Given the description of an element on the screen output the (x, y) to click on. 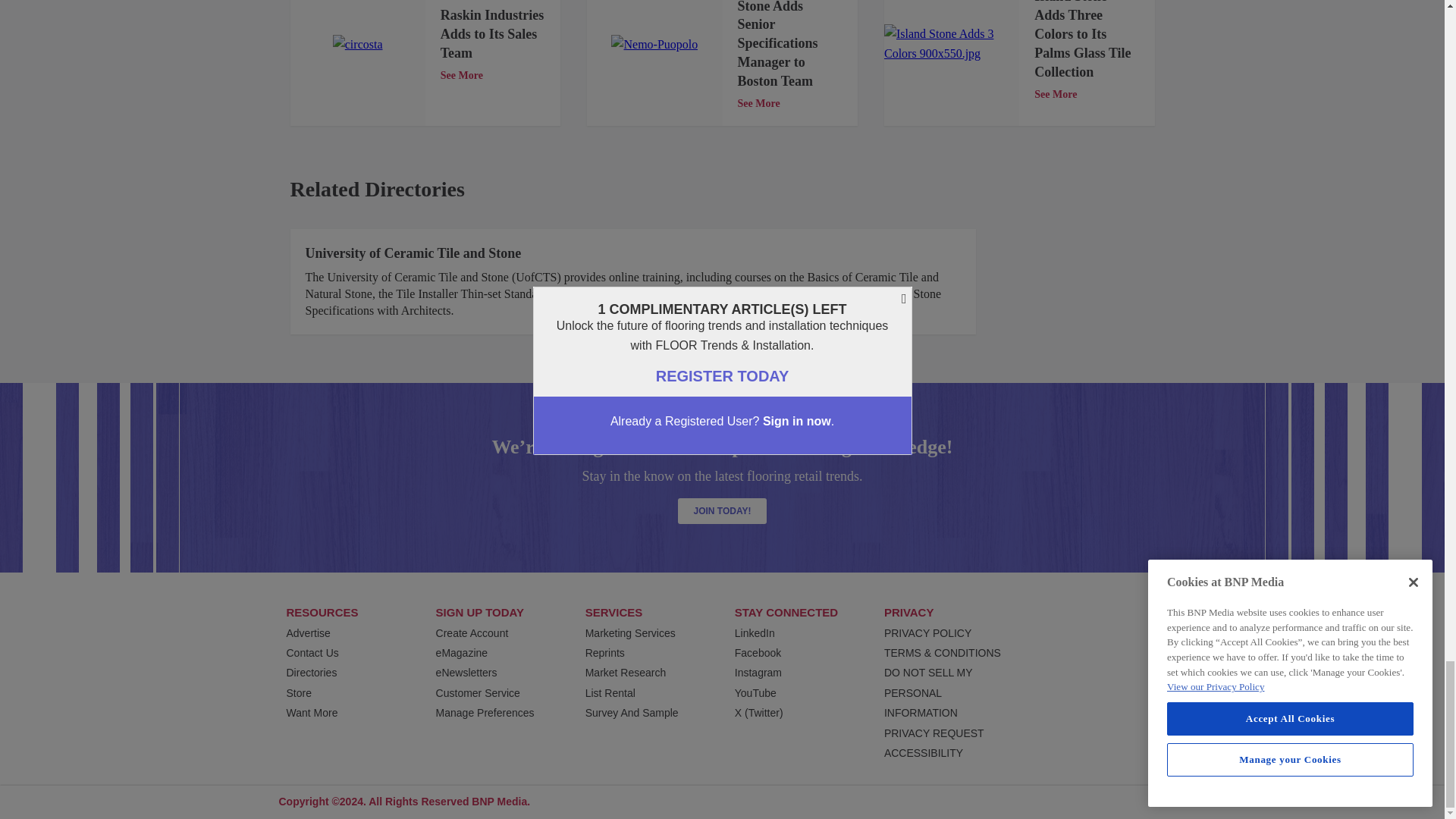
raskin (357, 44)
Nemo-Tile-Puopolo.jpg (654, 44)
Island Stone Adds 3 Colors 900x550.jpg (951, 44)
